Given the description of an element on the screen output the (x, y) to click on. 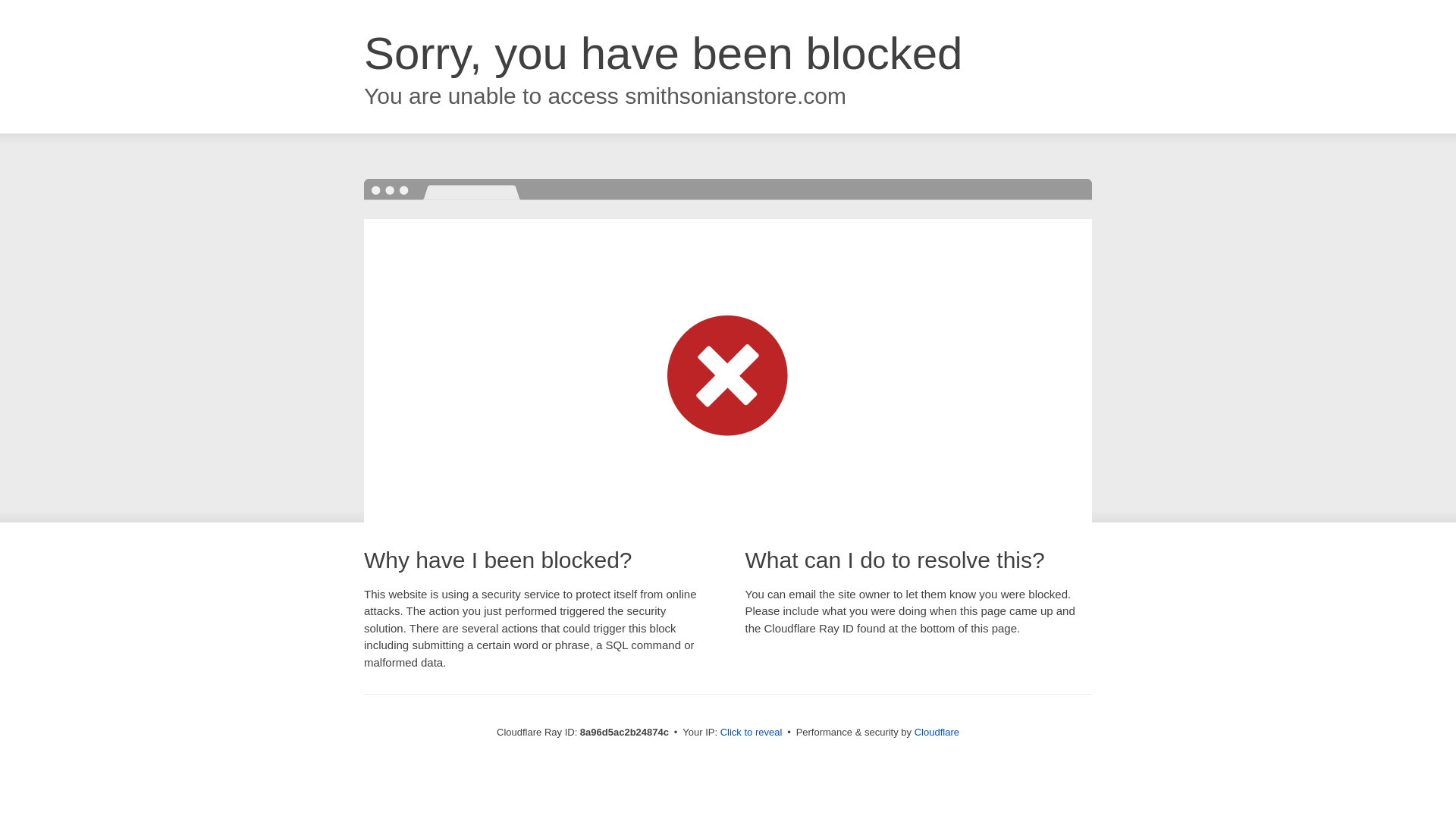
Cloudflare (936, 731)
Click to reveal (751, 732)
